Given the description of an element on the screen output the (x, y) to click on. 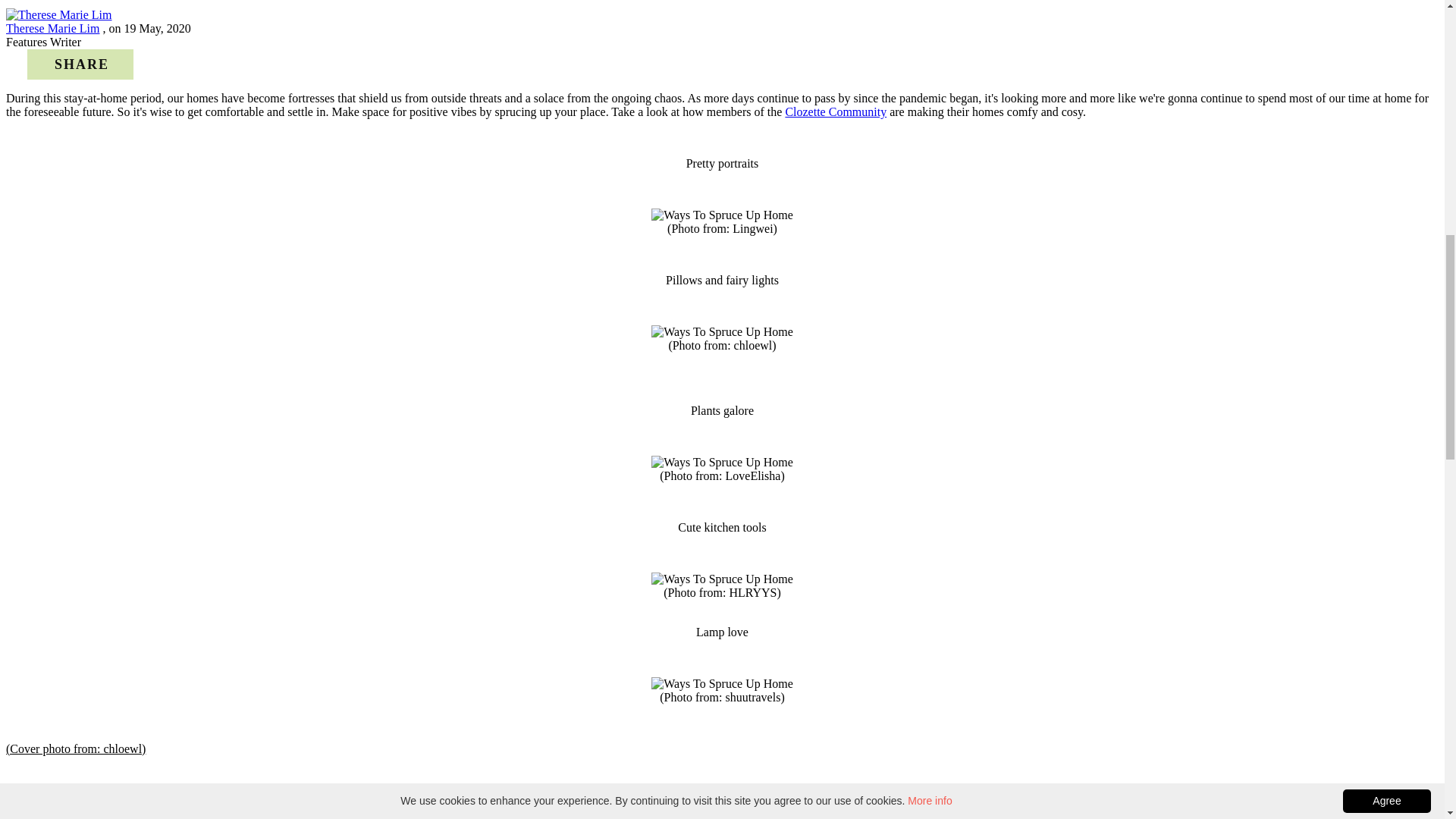
Therese Marie Lim (52, 28)
Ways To Spruce Up Home (721, 579)
Ways To Spruce Up Home (721, 214)
Ways To Spruce Up Home (721, 684)
Ways To Spruce Up Home (721, 462)
Ways To Spruce Up Home (721, 332)
